Given the description of an element on the screen output the (x, y) to click on. 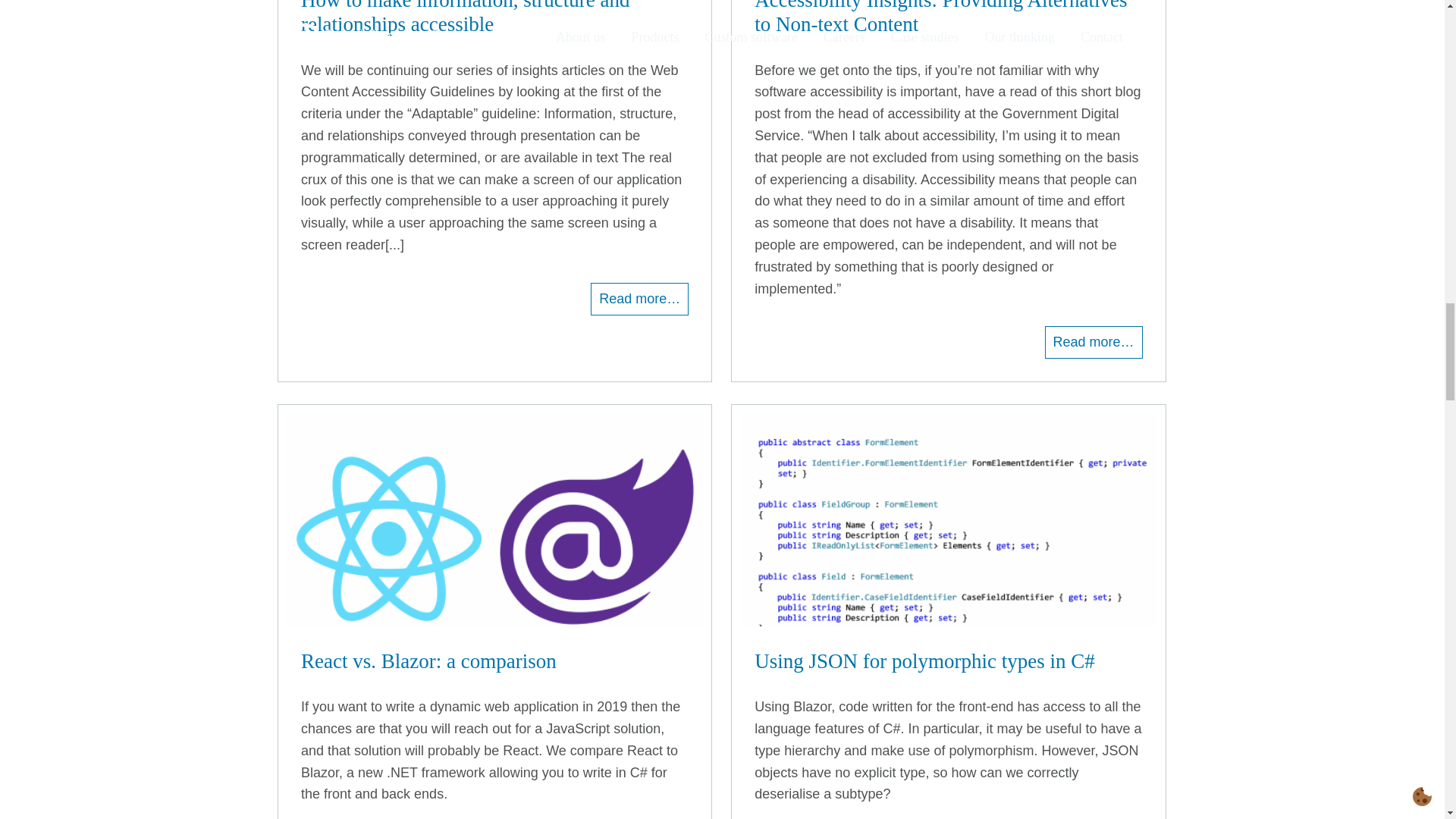
React vs. Blazor: a comparison (494, 661)
